Given the description of an element on the screen output the (x, y) to click on. 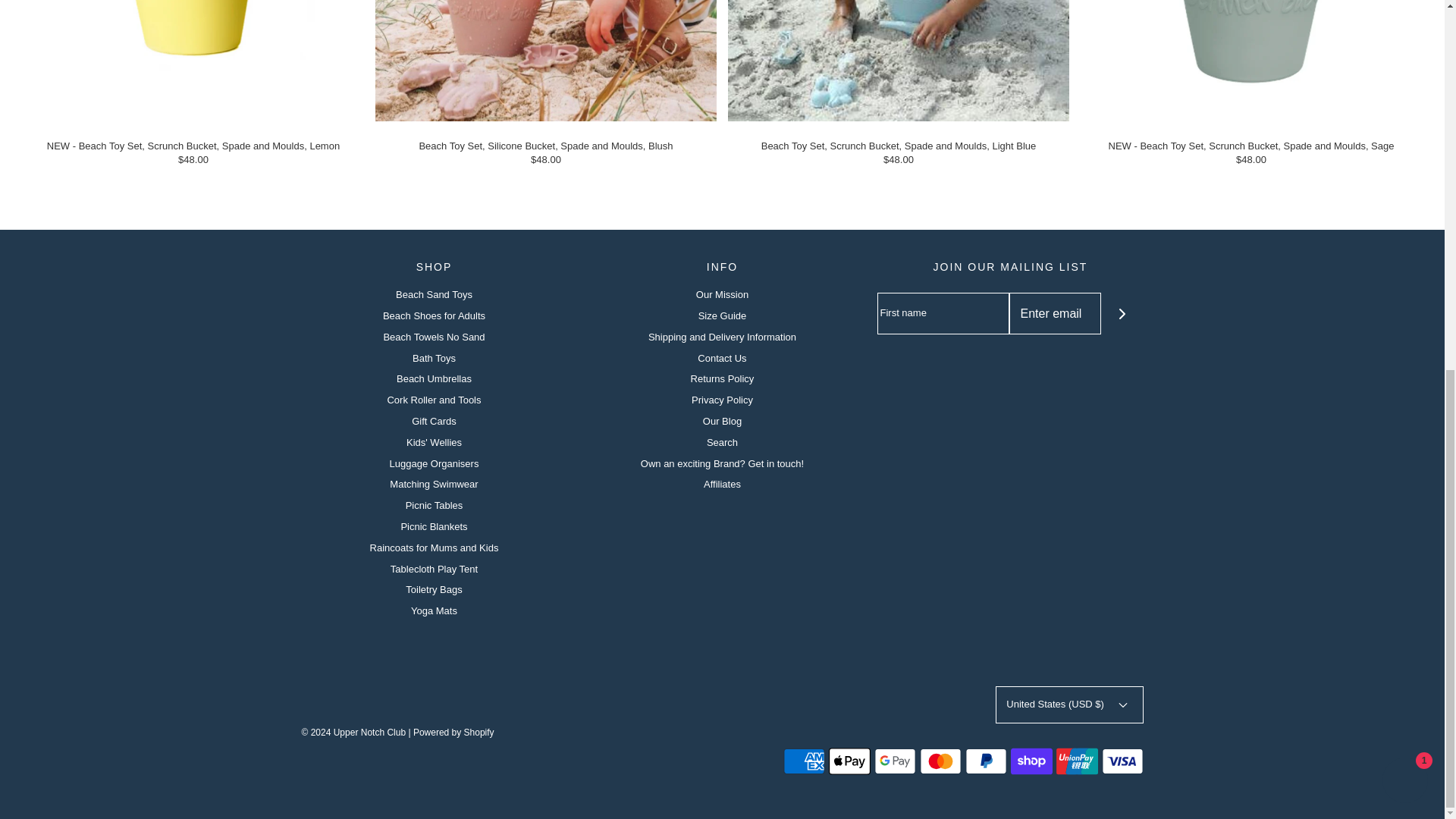
American Express (803, 761)
NEW - Beach Toy Set, Scrunch Bucket, Spade and Moulds, Sage (1251, 60)
Beach Toy Set, Silicone Bucket, Spade and Moulds, Blush (545, 60)
Google Pay (894, 761)
Apple Pay (848, 761)
Beach Toy Set, Scrunch Bucket, Spade and Moulds, Light Blue (898, 60)
Shopify online store chat (1404, 110)
NEW - Beach Toy Set, Scrunch Bucket, Spade and Moulds, Lemon (193, 60)
Mastercard (939, 761)
